Given the description of an element on the screen output the (x, y) to click on. 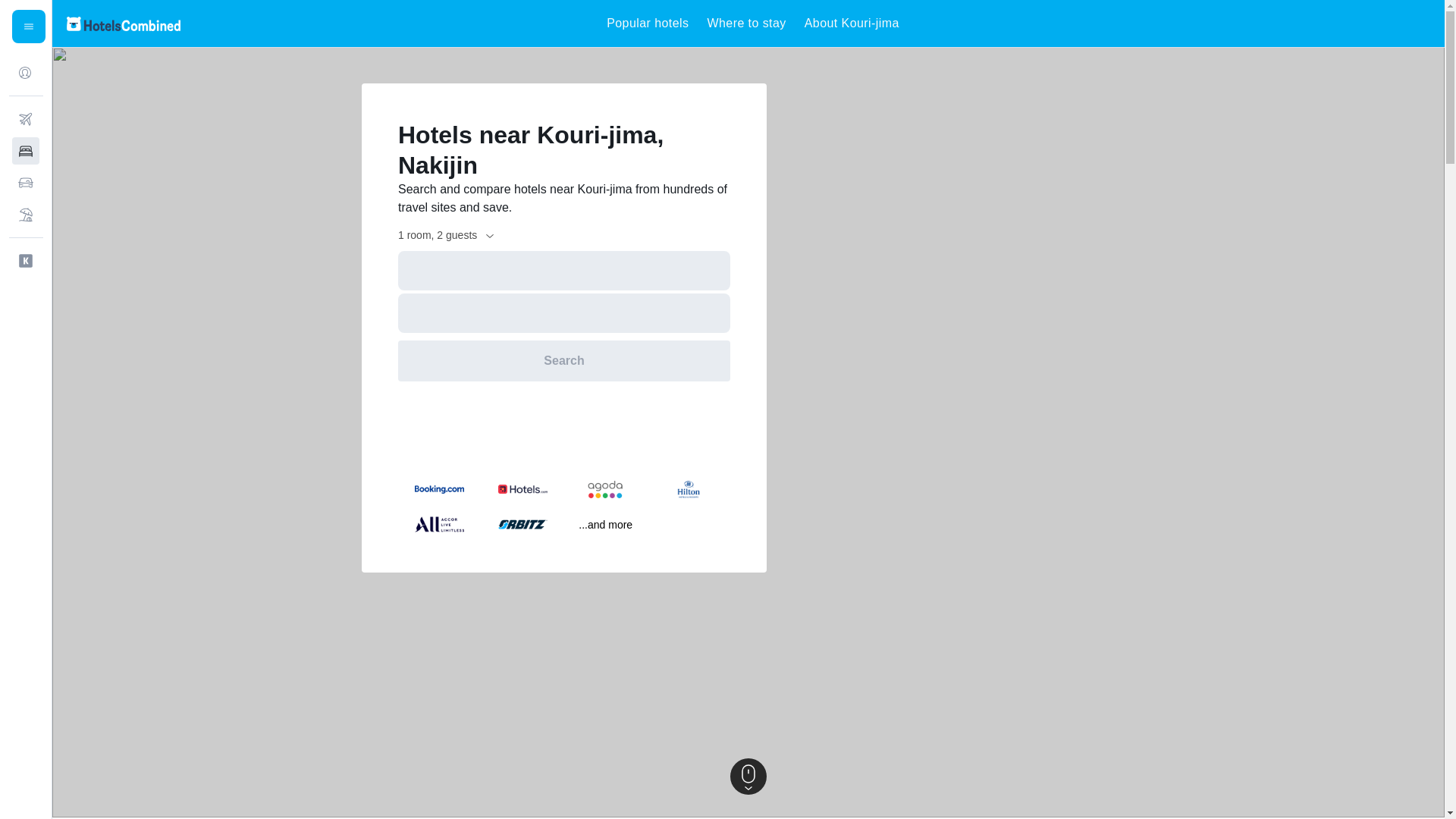
1 room, 2 guests (446, 235)
Search (563, 360)
Search (563, 360)
